Given the description of an element on the screen output the (x, y) to click on. 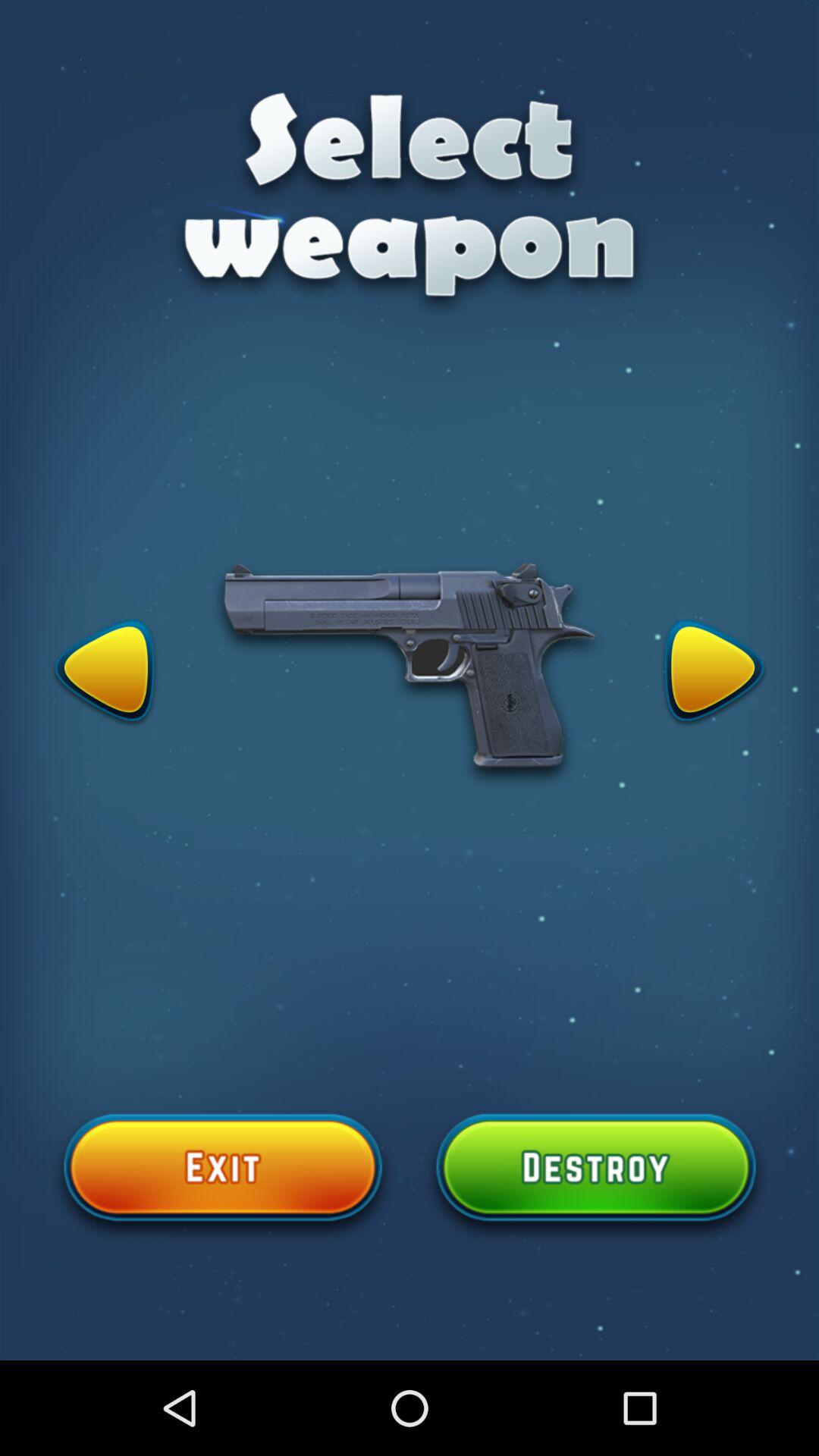
go to next (714, 673)
